Given the description of an element on the screen output the (x, y) to click on. 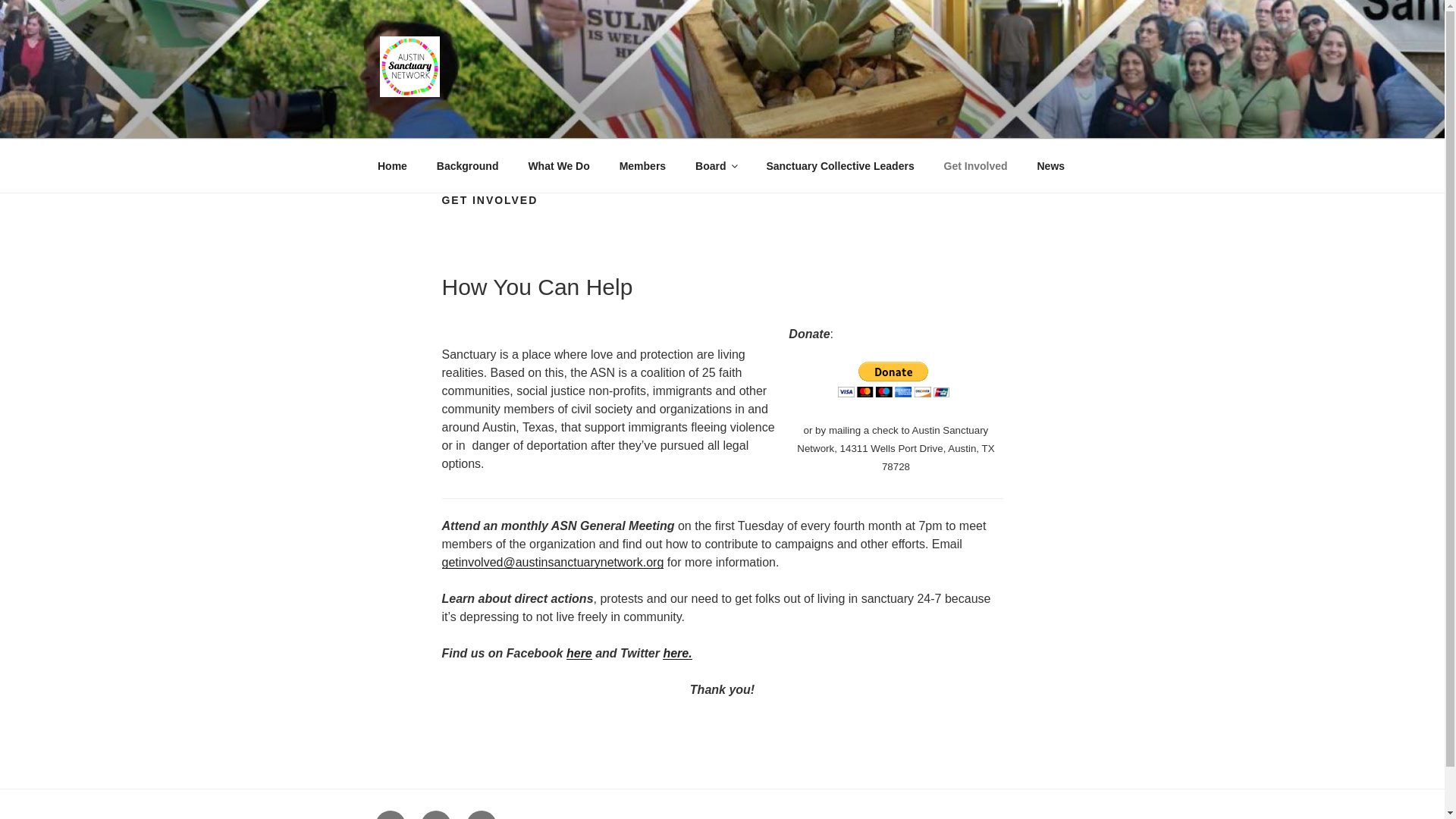
News (1050, 165)
Background (467, 165)
Members (641, 165)
Get Involved (975, 165)
here. (676, 653)
Facebook (389, 814)
YouTube (480, 814)
PayPal - The safer, easier way to pay online! (893, 379)
What We Do (558, 165)
Twitter (435, 814)
here (579, 653)
Board (715, 165)
Home (392, 165)
Sanctuary Collective Leaders (839, 165)
AUSTIN SANCTUARY NETWORK (618, 119)
